Given the description of an element on the screen output the (x, y) to click on. 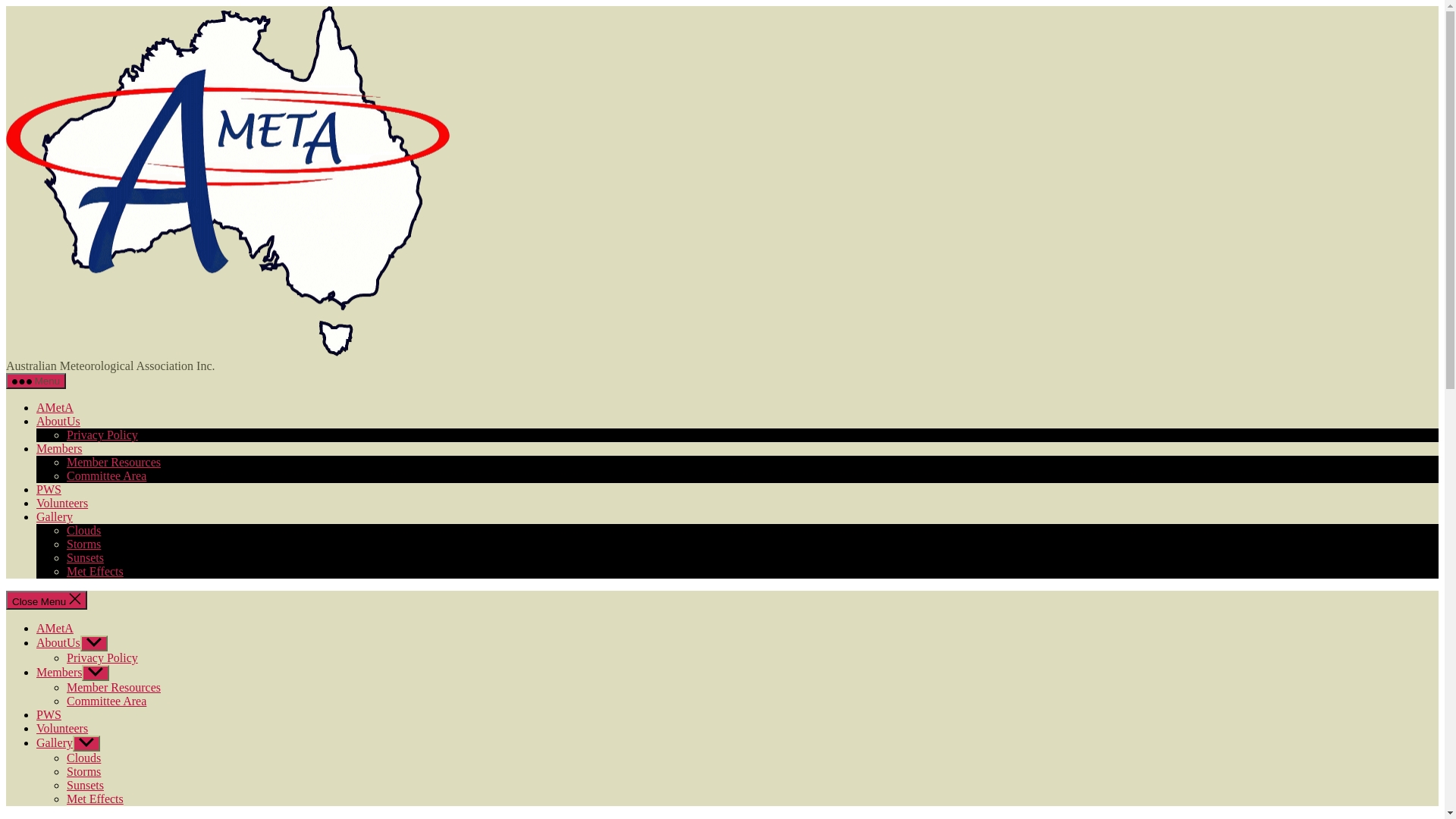
Committee Area Element type: text (106, 475)
Members Element type: text (58, 671)
Member Resources Element type: text (113, 686)
Storms Element type: text (83, 543)
Clouds Element type: text (83, 530)
Committee Area Element type: text (106, 700)
Sunsets Element type: text (84, 784)
Sunsets Element type: text (84, 557)
Volunteers Element type: text (61, 502)
Met Effects Element type: text (94, 570)
Privacy Policy Element type: text (102, 434)
Clouds Element type: text (83, 757)
Show sub menu Element type: text (95, 672)
Privacy Policy Element type: text (102, 657)
Close Menu Element type: text (46, 599)
Member Resources Element type: text (113, 461)
AMetA Element type: text (54, 407)
Met Effects Element type: text (94, 798)
Skip to the content Element type: text (5, 5)
Storms Element type: text (83, 771)
Menu Element type: text (35, 381)
PWS Element type: text (48, 489)
Volunteers Element type: text (61, 727)
Gallery Element type: text (54, 742)
PWS Element type: text (48, 714)
Show sub menu Element type: text (93, 643)
AMetA Element type: text (54, 627)
AboutUs Element type: text (58, 642)
AboutUs Element type: text (58, 420)
Show sub menu Element type: text (86, 743)
Gallery Element type: text (54, 516)
Members Element type: text (58, 448)
